Given the description of an element on the screen output the (x, y) to click on. 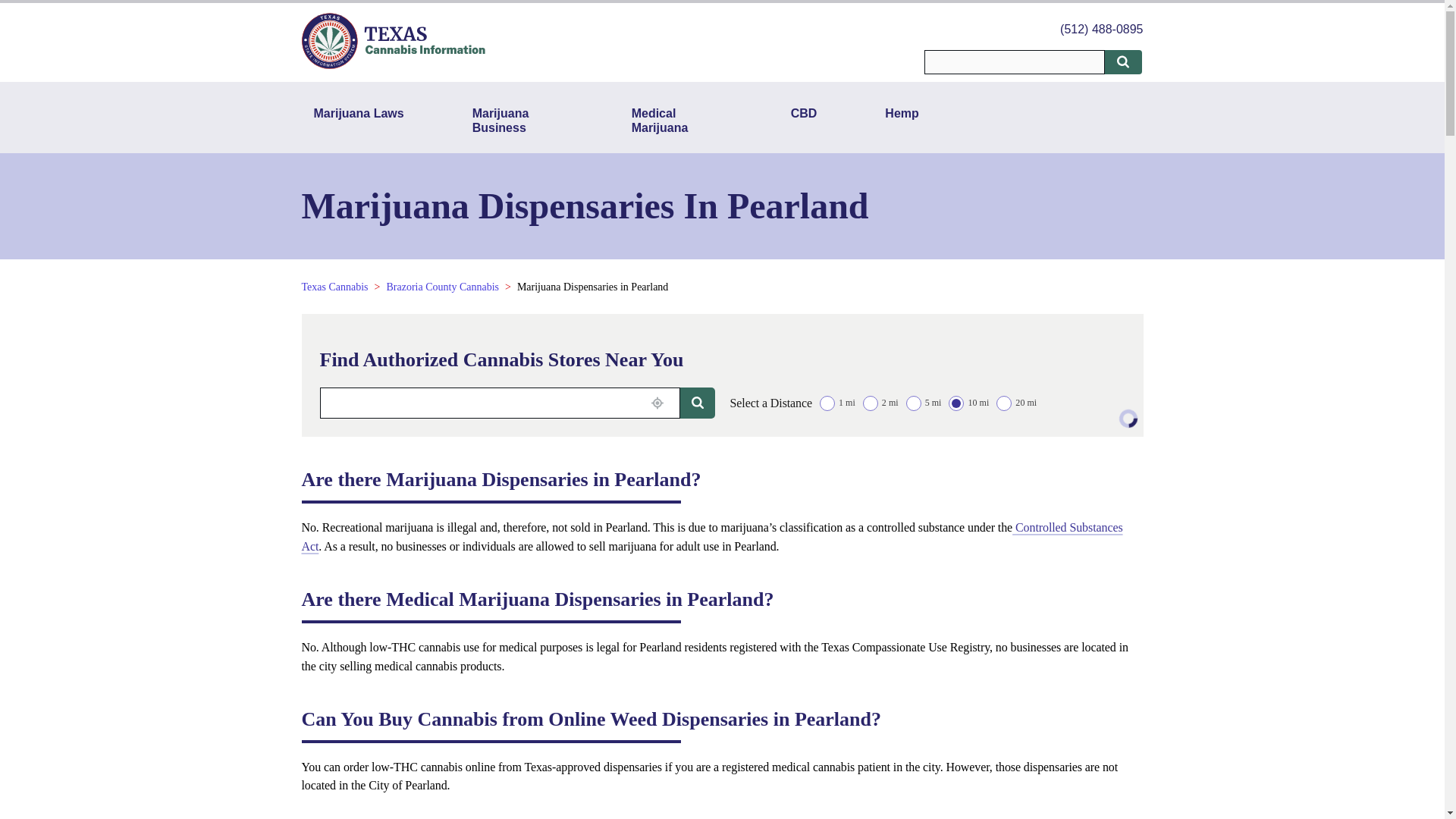
Medical Marijuana (677, 119)
Hemp (901, 119)
Marijuana Laws (358, 119)
Texas Cannabis (334, 286)
Brazoria County Cannabis (442, 286)
CBD (803, 119)
Controlled Substances Act (711, 536)
Marijuana Business (517, 119)
